Given the description of an element on the screen output the (x, y) to click on. 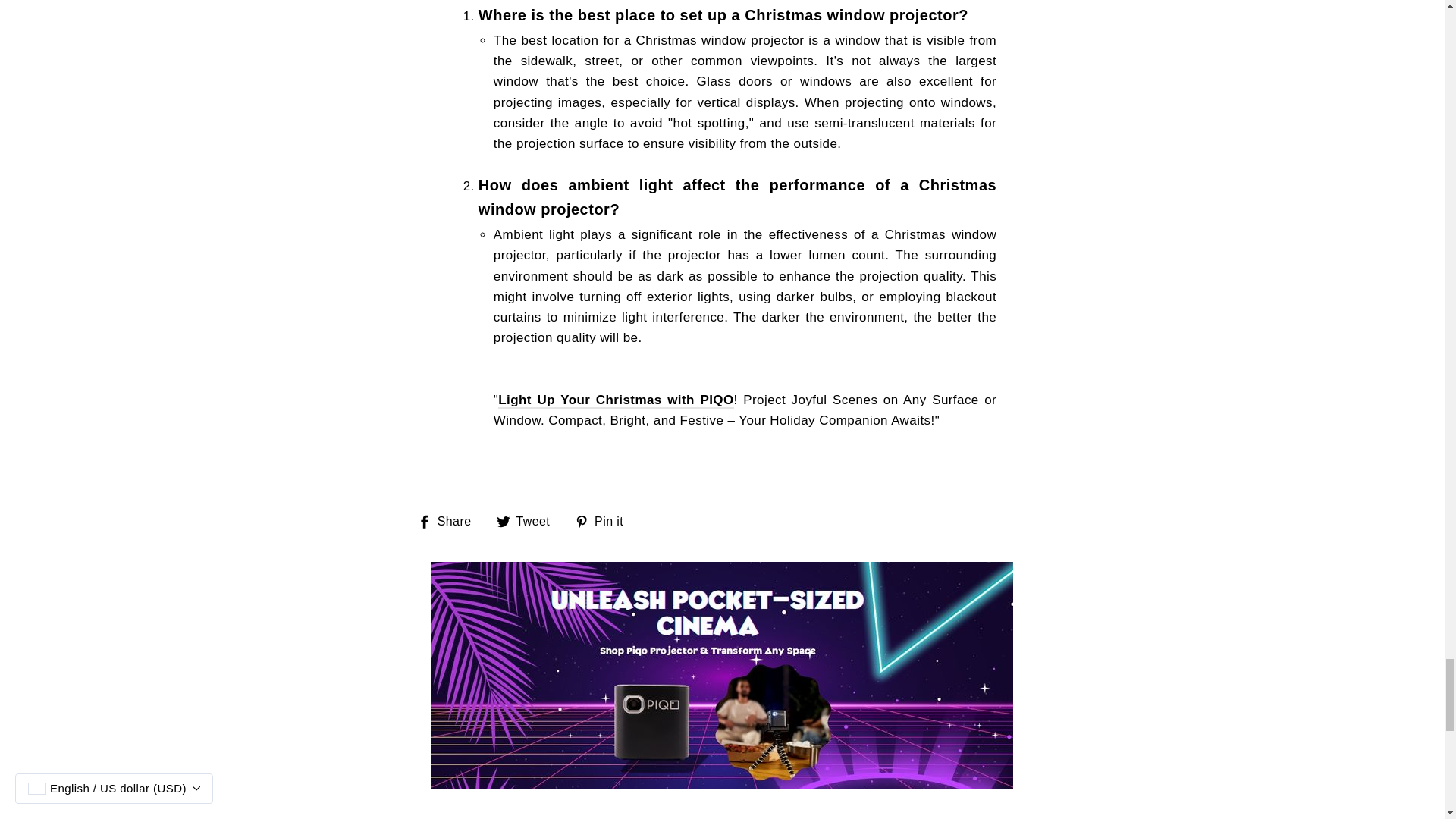
Share on Facebook (450, 521)
Tweet on Twitter (529, 521)
Pin on Pinterest (604, 521)
